Given the description of an element on the screen output the (x, y) to click on. 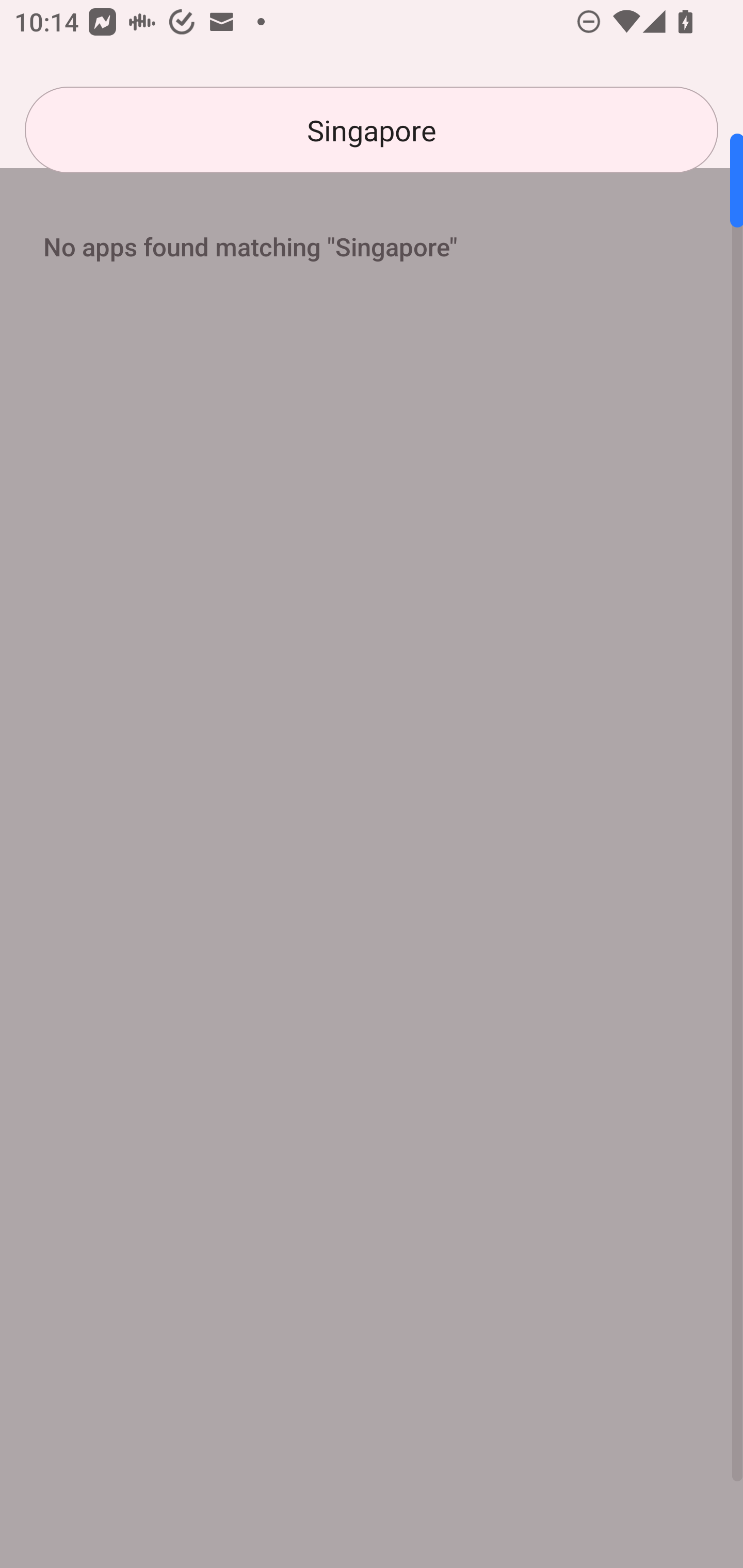
Singapore (371, 130)
